Given the description of an element on the screen output the (x, y) to click on. 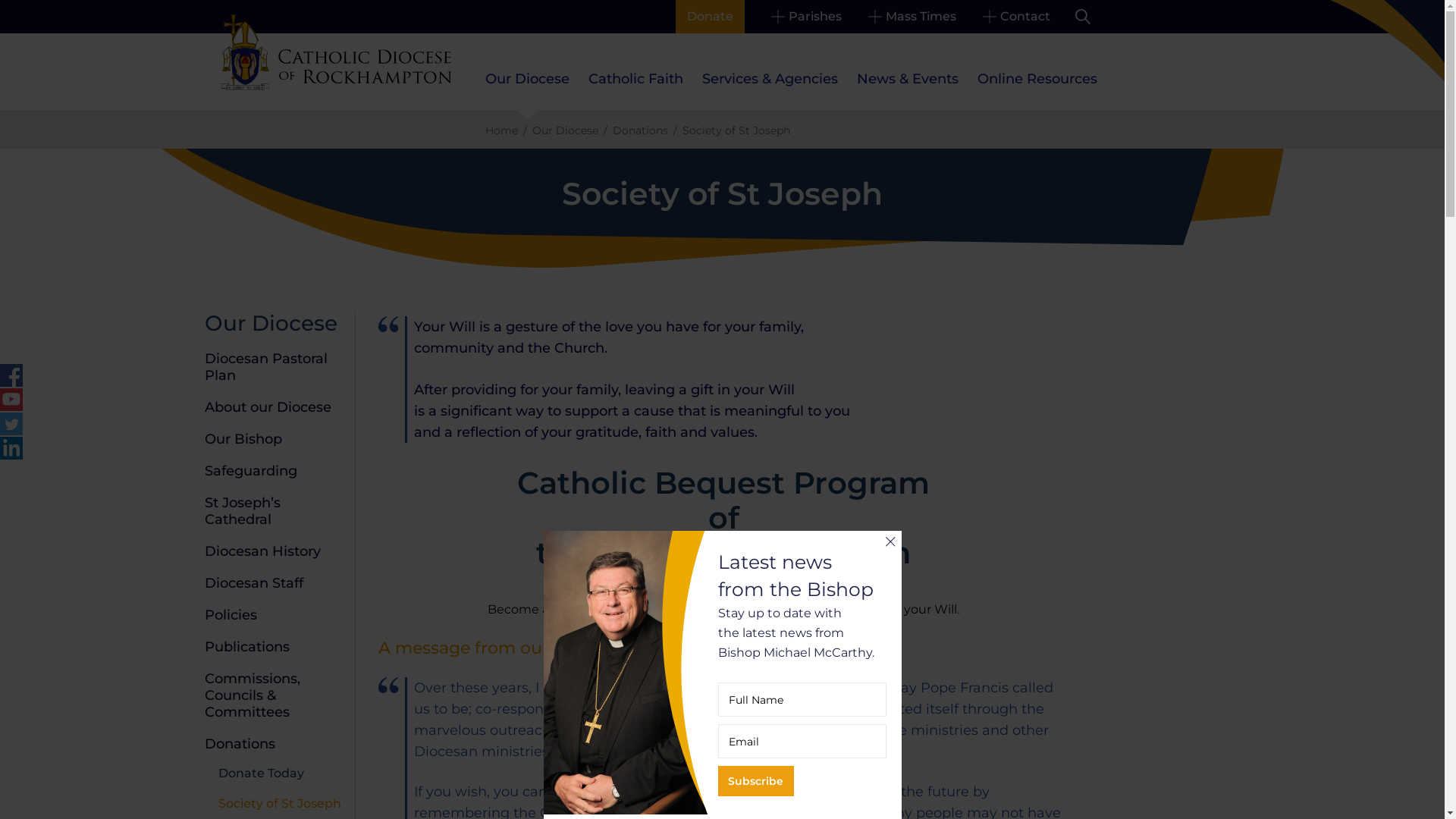
Close Element type: text (890, 541)
News & Events Element type: text (907, 78)
Publications Element type: text (246, 646)
Linkedin Element type: text (11, 447)
Home Element type: text (501, 130)
Commissions, Councils & Committees Element type: text (252, 695)
Our Bishop Element type: text (243, 438)
Donate Element type: text (708, 16)
Contact Element type: text (1016, 16)
Donate Today Element type: text (261, 772)
Facebook Element type: text (11, 375)
Donations Element type: text (239, 743)
Twitter Element type: text (11, 423)
About our Diocese Element type: text (267, 406)
Catholic Diocese of Rockhampton Element type: hover (336, 52)
Our Diocese Element type: text (527, 78)
Our Diocese Element type: text (565, 130)
Our Diocese Element type: text (270, 322)
Search Element type: text (1082, 16)
Catholic Faith Element type: text (635, 78)
Safeguarding Element type: text (250, 470)
Parishes Element type: text (805, 16)
Online Resources Element type: text (1036, 78)
Youtube Element type: text (11, 399)
Mass Times Element type: text (911, 16)
Diocesan History Element type: text (262, 550)
Society of St Joseph Element type: text (279, 803)
Services & Agencies Element type: text (769, 78)
Donations Element type: text (640, 130)
Subscribe Element type: text (755, 780)
Policies Element type: text (230, 614)
Diocesan Pastoral Plan Element type: text (265, 366)
Diocesan Staff Element type: text (253, 582)
